Given the description of an element on the screen output the (x, y) to click on. 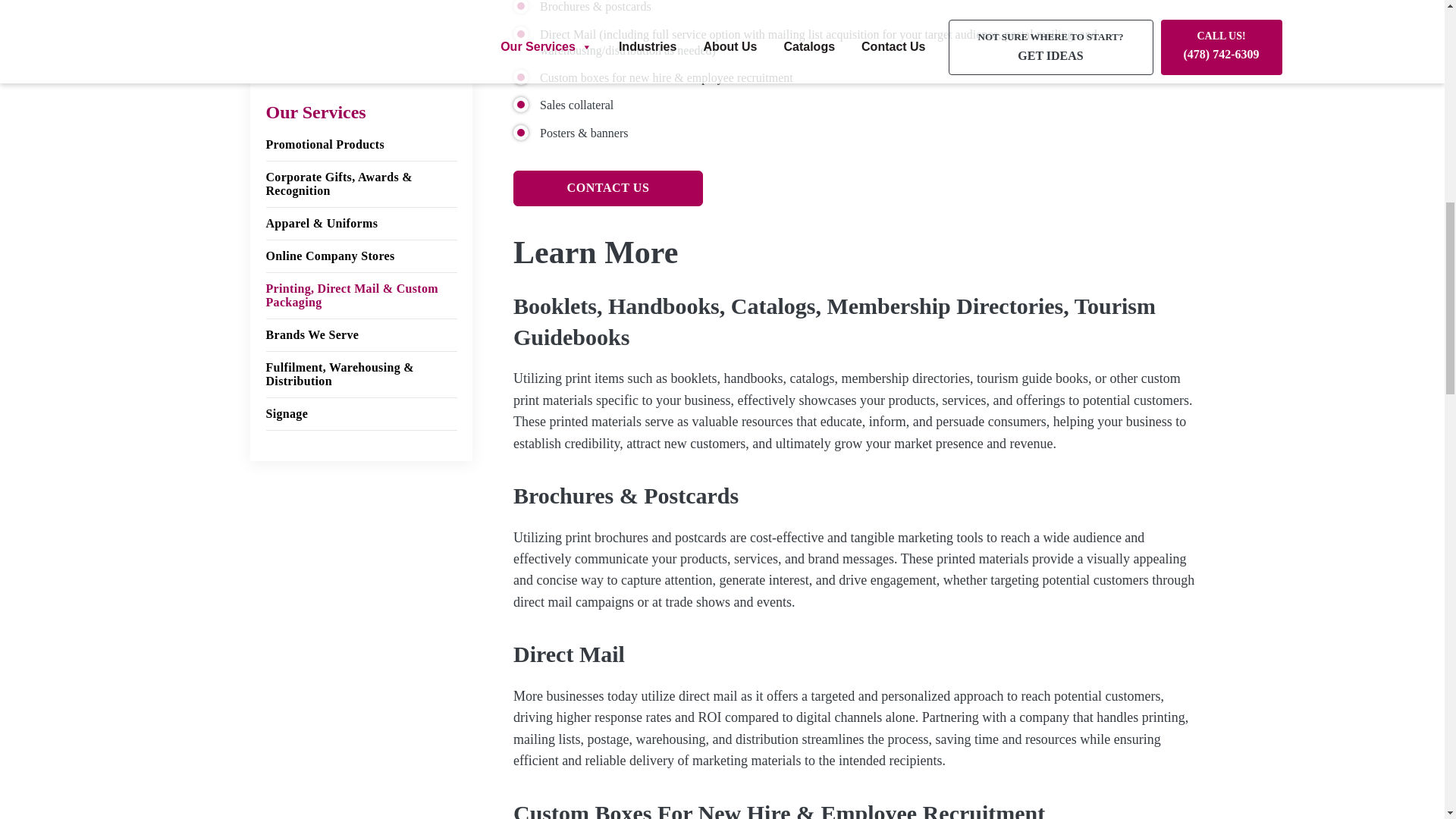
CONTACT US (608, 188)
Signage (360, 27)
